Given the description of an element on the screen output the (x, y) to click on. 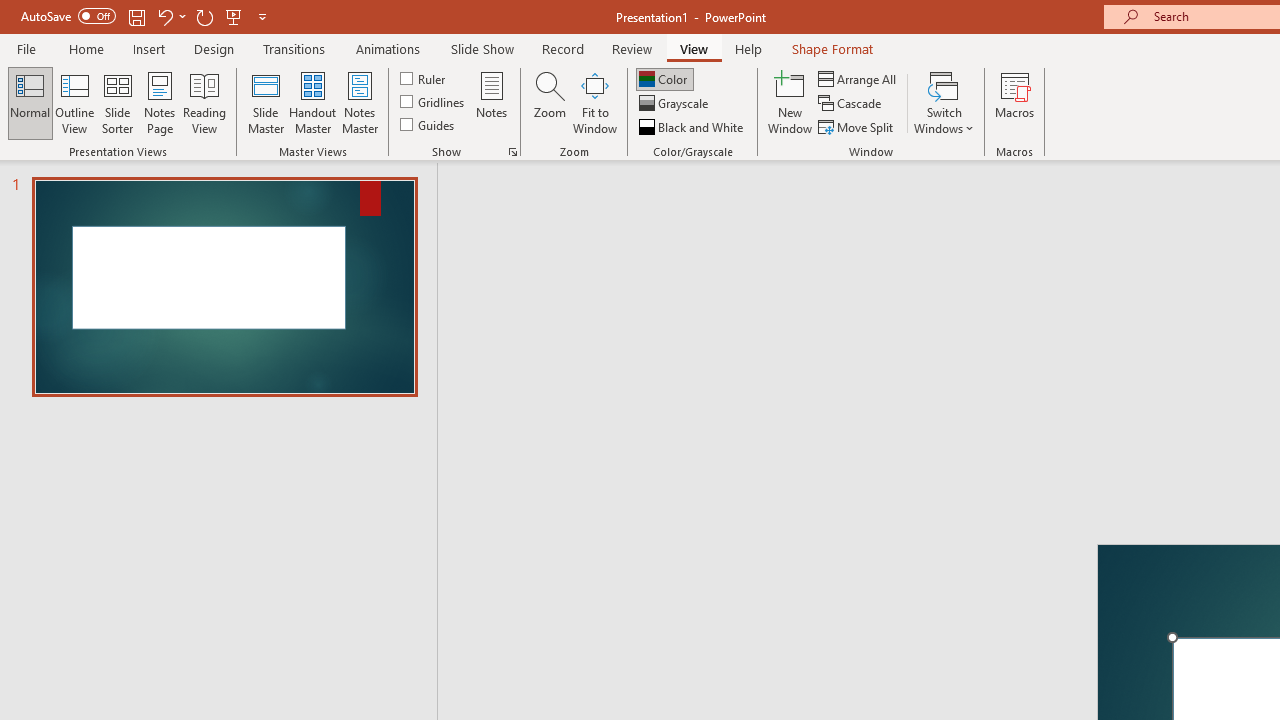
New Window (790, 102)
Handout Master (312, 102)
Outline View (74, 102)
Color (664, 78)
Switch Windows (943, 102)
Fit to Window (594, 102)
Slide Master (265, 102)
Black and White (693, 126)
Arrange All (858, 78)
